Given the description of an element on the screen output the (x, y) to click on. 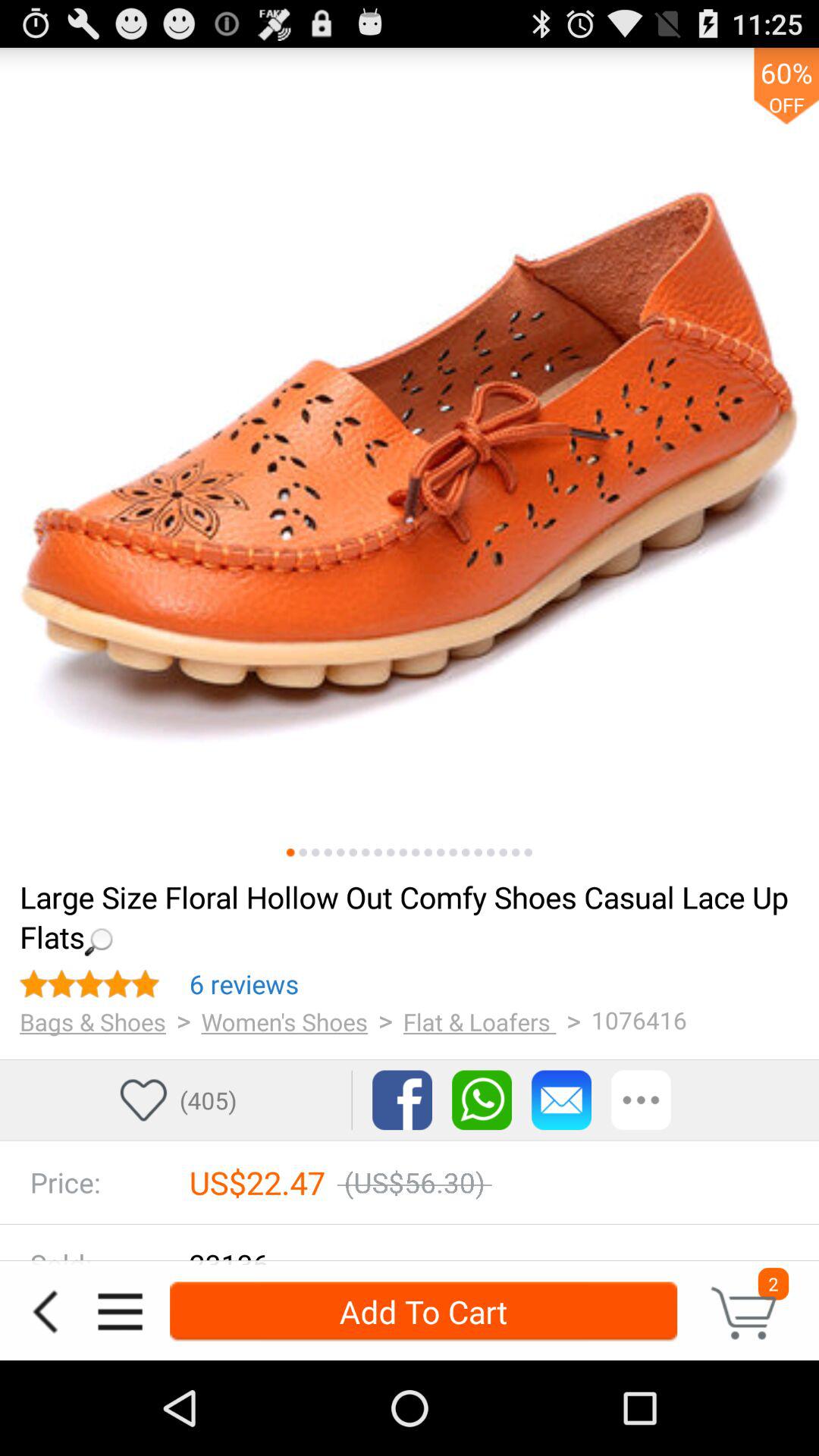
share article on whatsapp (481, 1100)
